Given the description of an element on the screen output the (x, y) to click on. 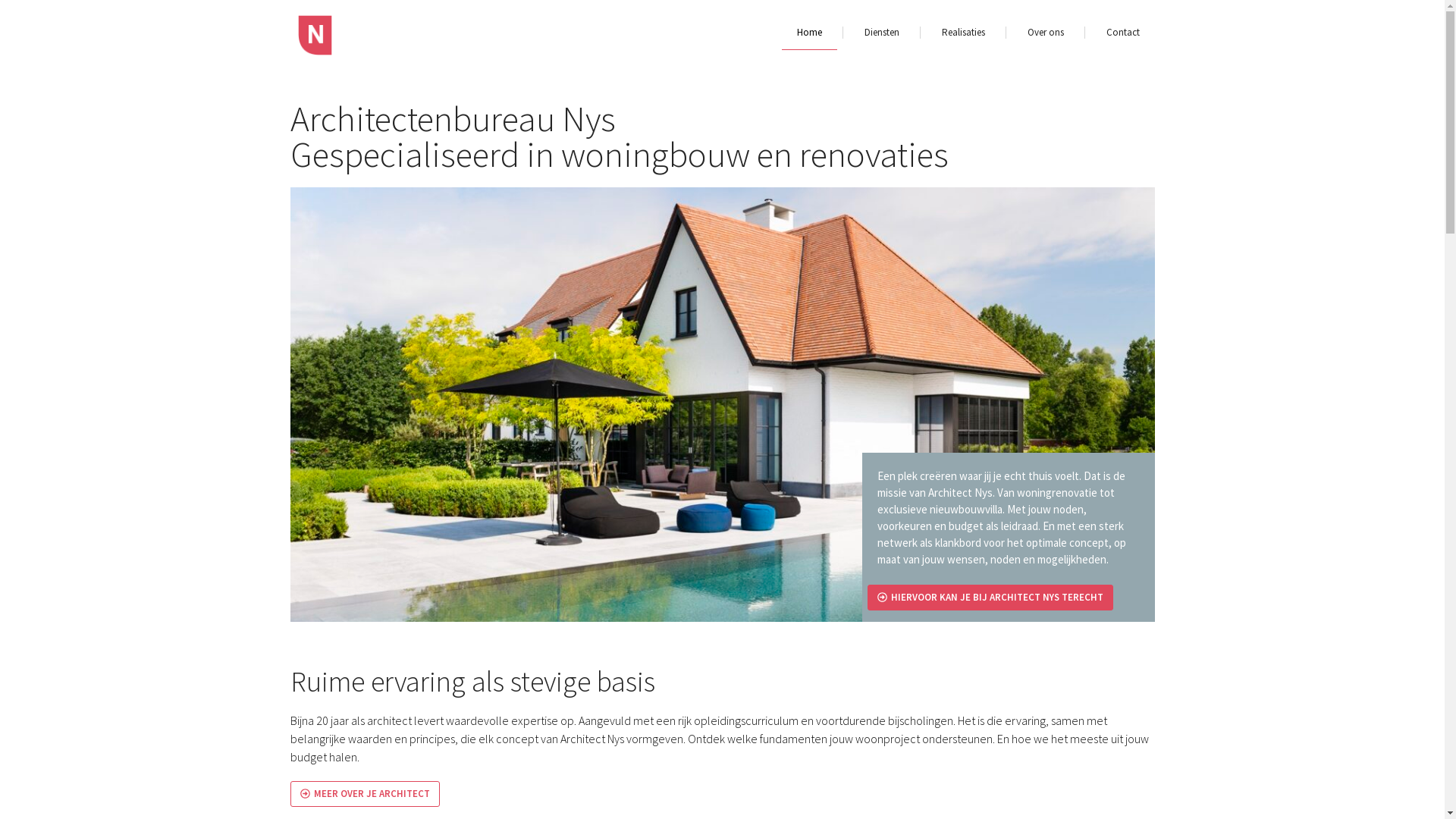
Over ons Element type: text (1044, 32)
HIERVOOR KAN JE BIJ ARCHITECT NYS TERECHT Element type: text (990, 597)
MEER OVER JE ARCHITECT Element type: text (364, 793)
Realisaties Element type: text (963, 32)
Contact Element type: text (1122, 32)
Home Element type: text (808, 32)
Diensten Element type: text (881, 32)
